Given the description of an element on the screen output the (x, y) to click on. 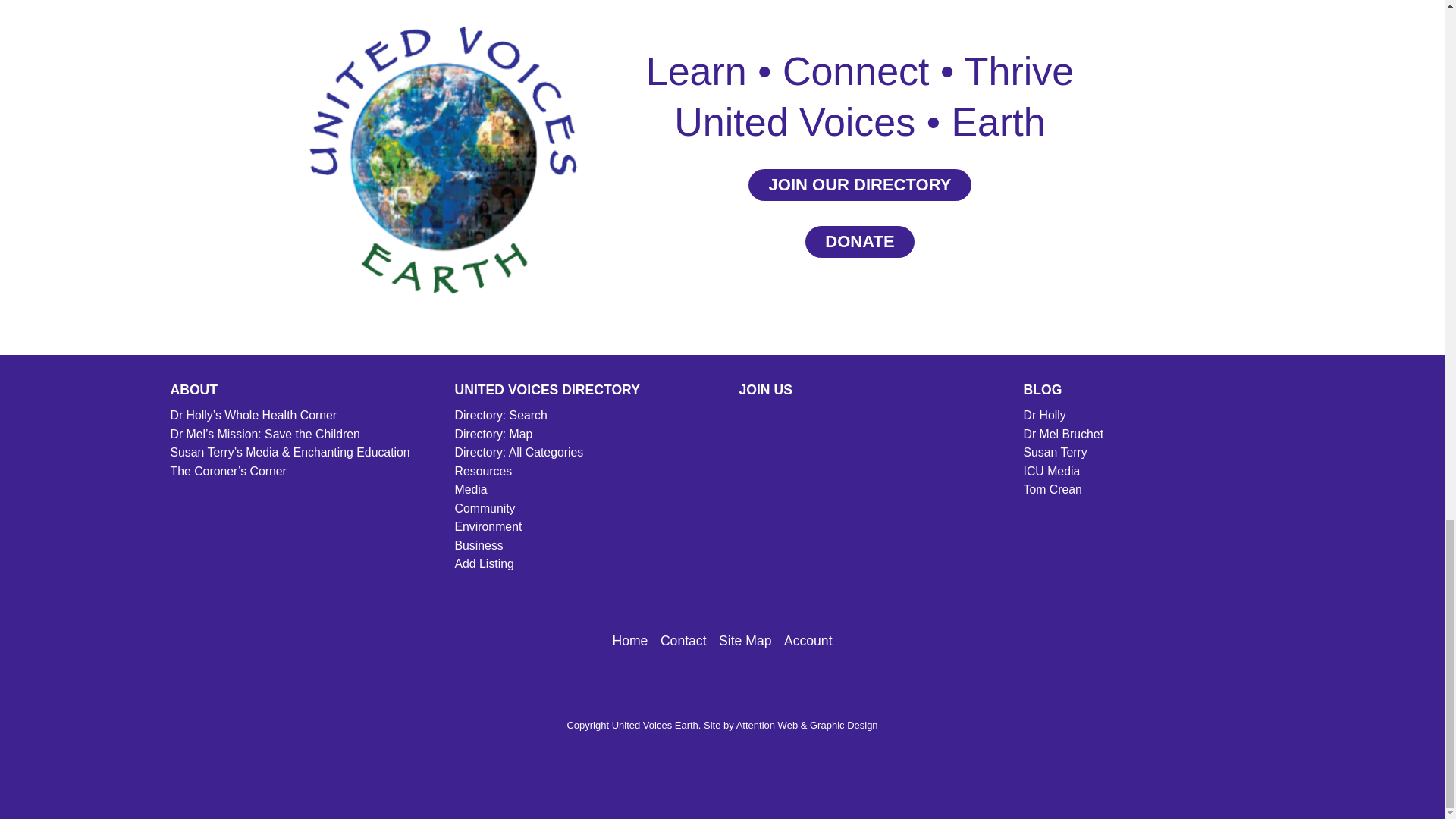
JOIN OUR DIRECTORY (859, 184)
DONATE (859, 241)
